Given the description of an element on the screen output the (x, y) to click on. 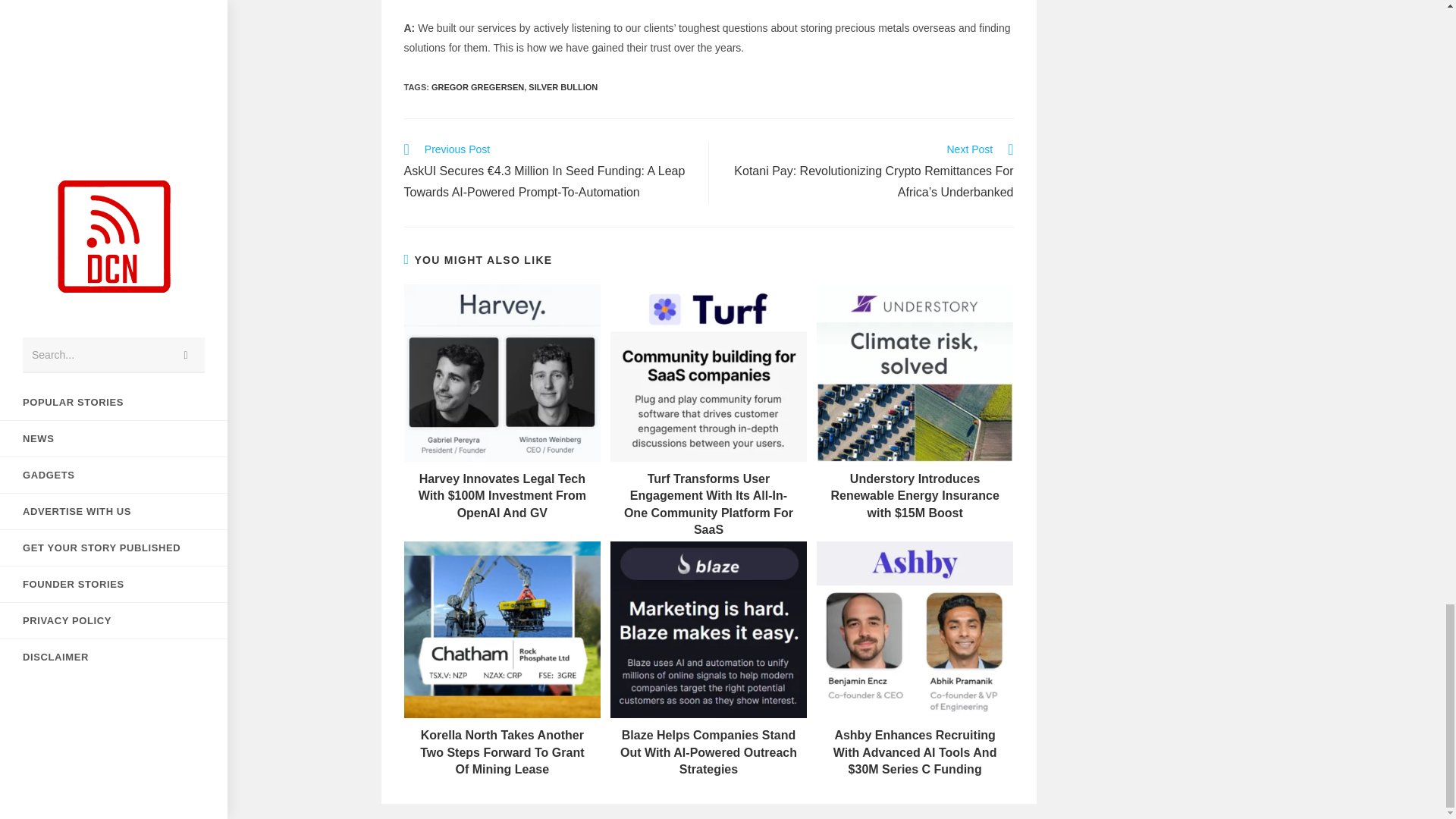
GREGOR GREGERSEN (477, 86)
SILVER BULLION (562, 86)
